Given the description of an element on the screen output the (x, y) to click on. 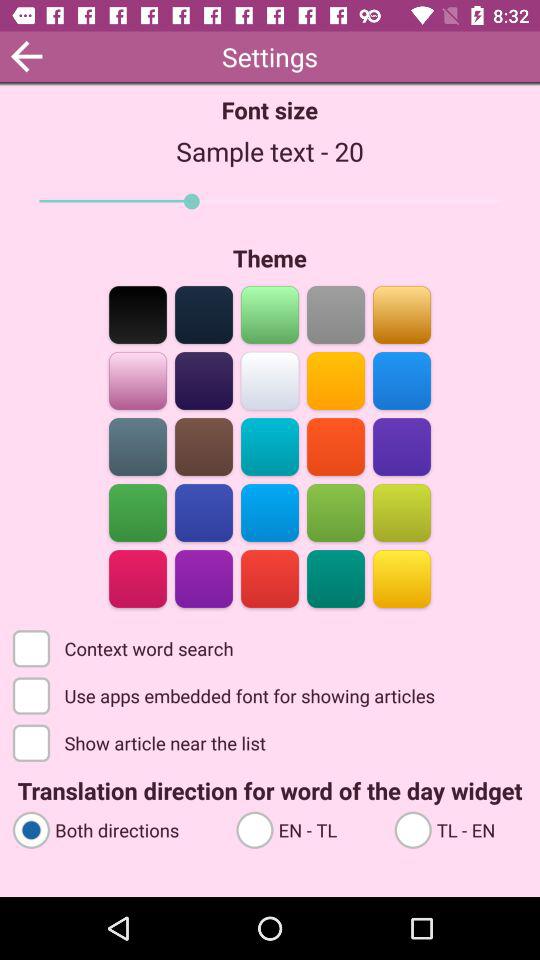
change theme color (203, 313)
